Given the description of an element on the screen output the (x, y) to click on. 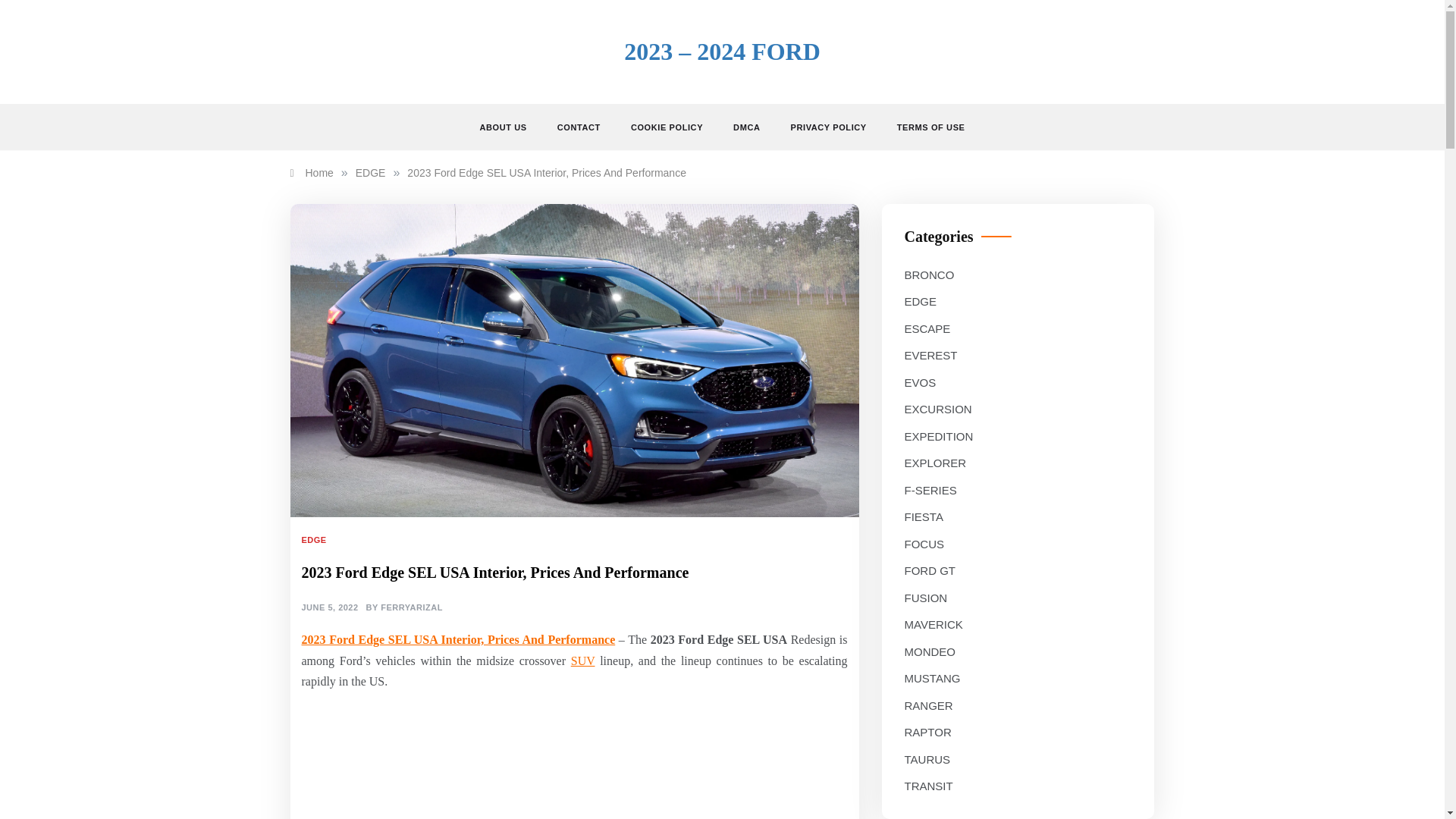
EDGE (370, 173)
COOKIE POLICY (666, 126)
Home (311, 173)
BRONCO (928, 275)
ABOUT US (510, 126)
EVOS (920, 383)
Advertisement (574, 770)
PRIVACY POLICY (827, 126)
SUV (582, 660)
FERRYARIZAL (411, 607)
ESCAPE (927, 329)
TERMS OF USE (923, 126)
FOCUS (923, 544)
EXPEDITION (938, 436)
